Given the description of an element on the screen output the (x, y) to click on. 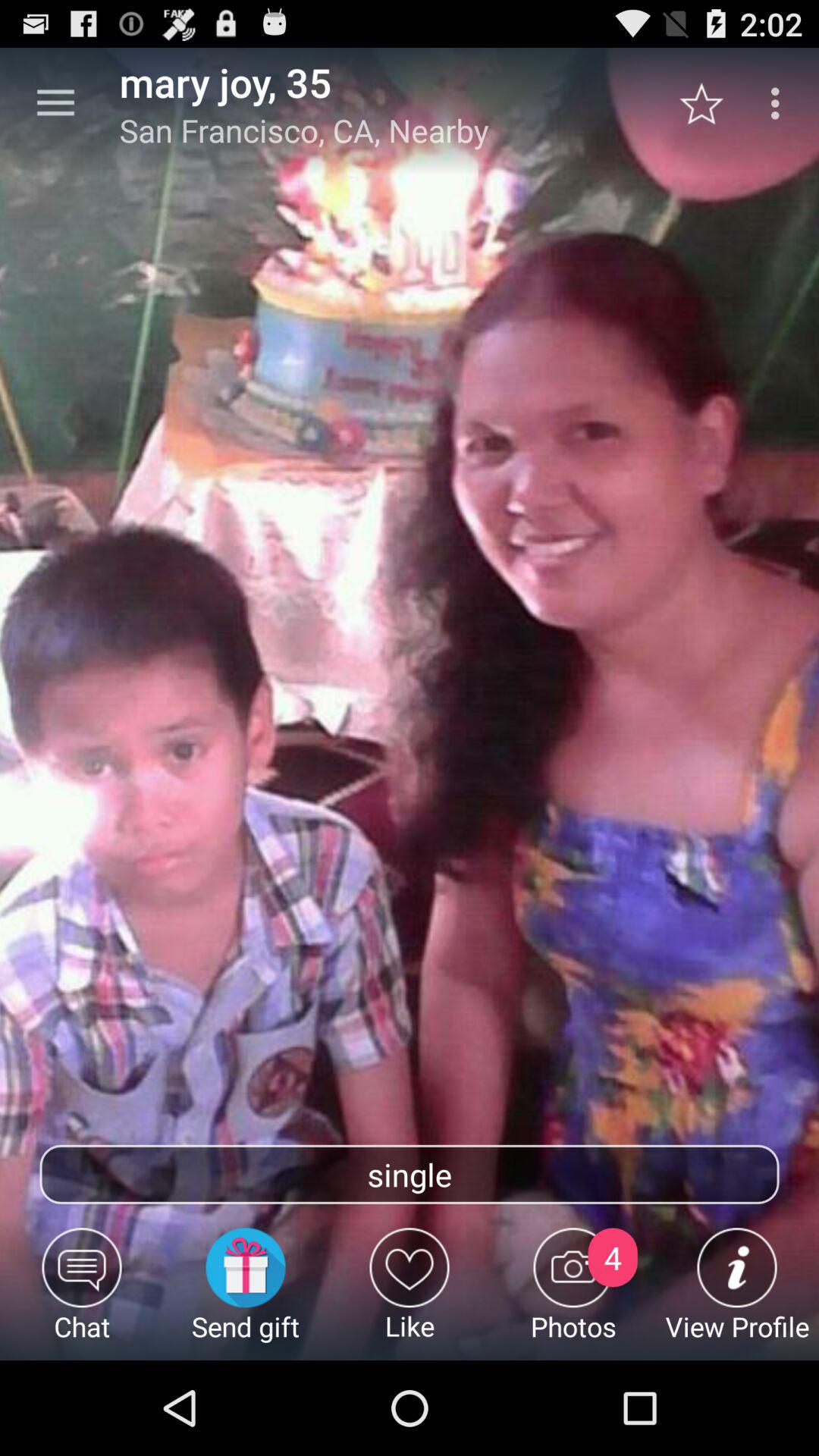
click the item above the single item (709, 103)
